Given the description of an element on the screen output the (x, y) to click on. 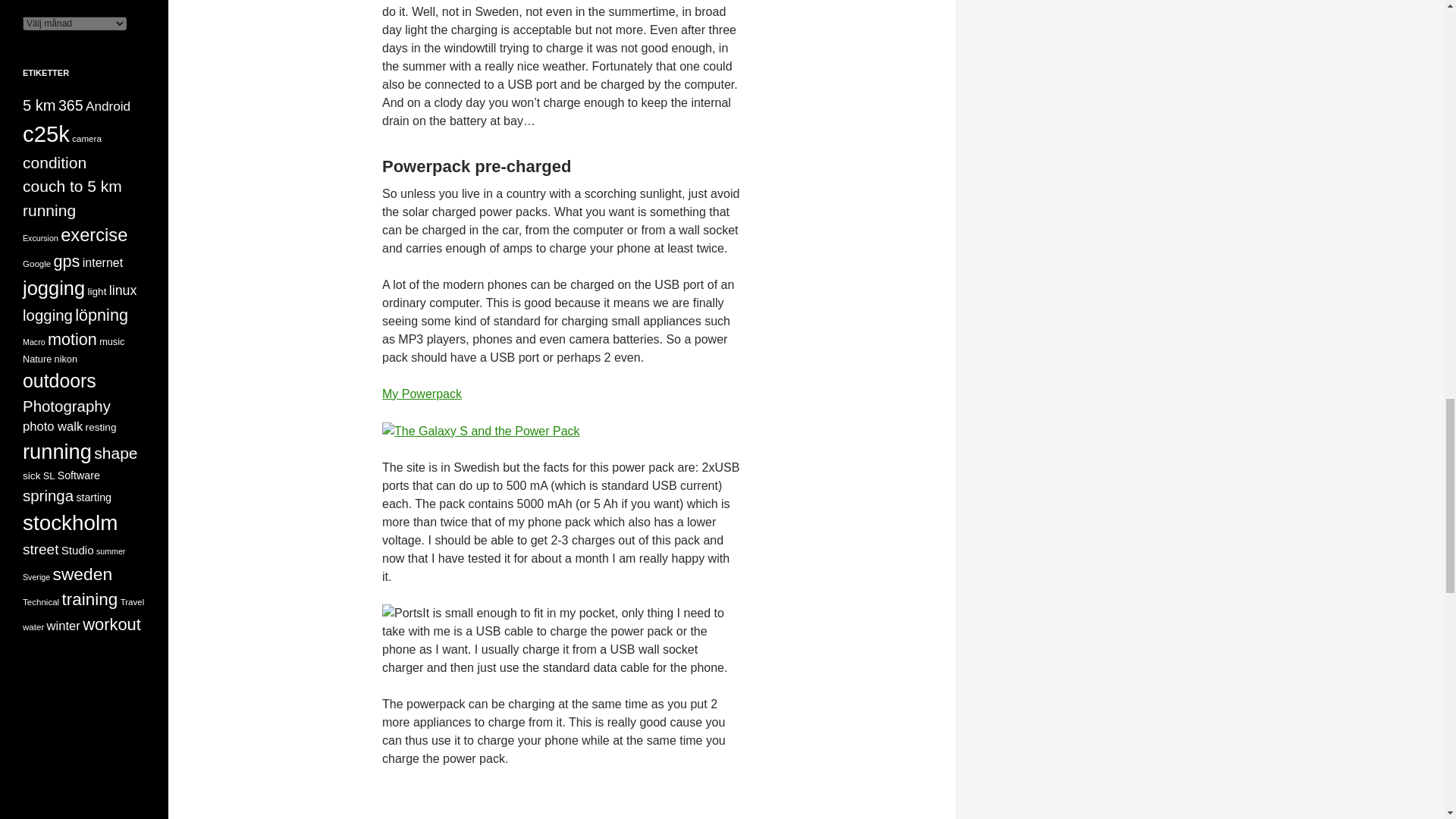
My Powerpack (421, 393)
The Galaxy S and the Power Pack by ichimusai, on Flickr (480, 430)
